Given the description of an element on the screen output the (x, y) to click on. 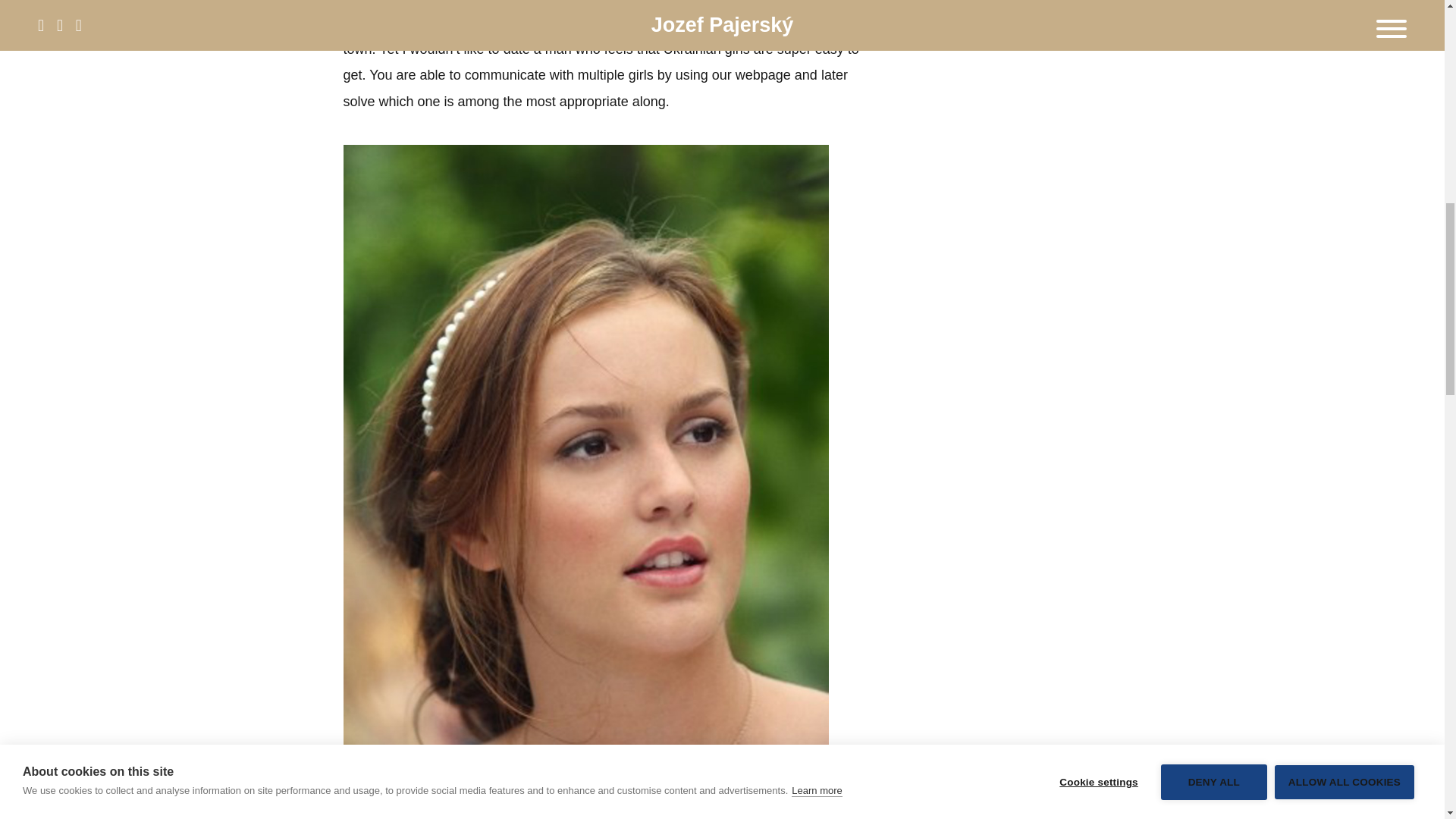
DENY ALL (1213, 2)
Cookie settings (1098, 6)
Learn more (816, 20)
